Given the description of an element on the screen output the (x, y) to click on. 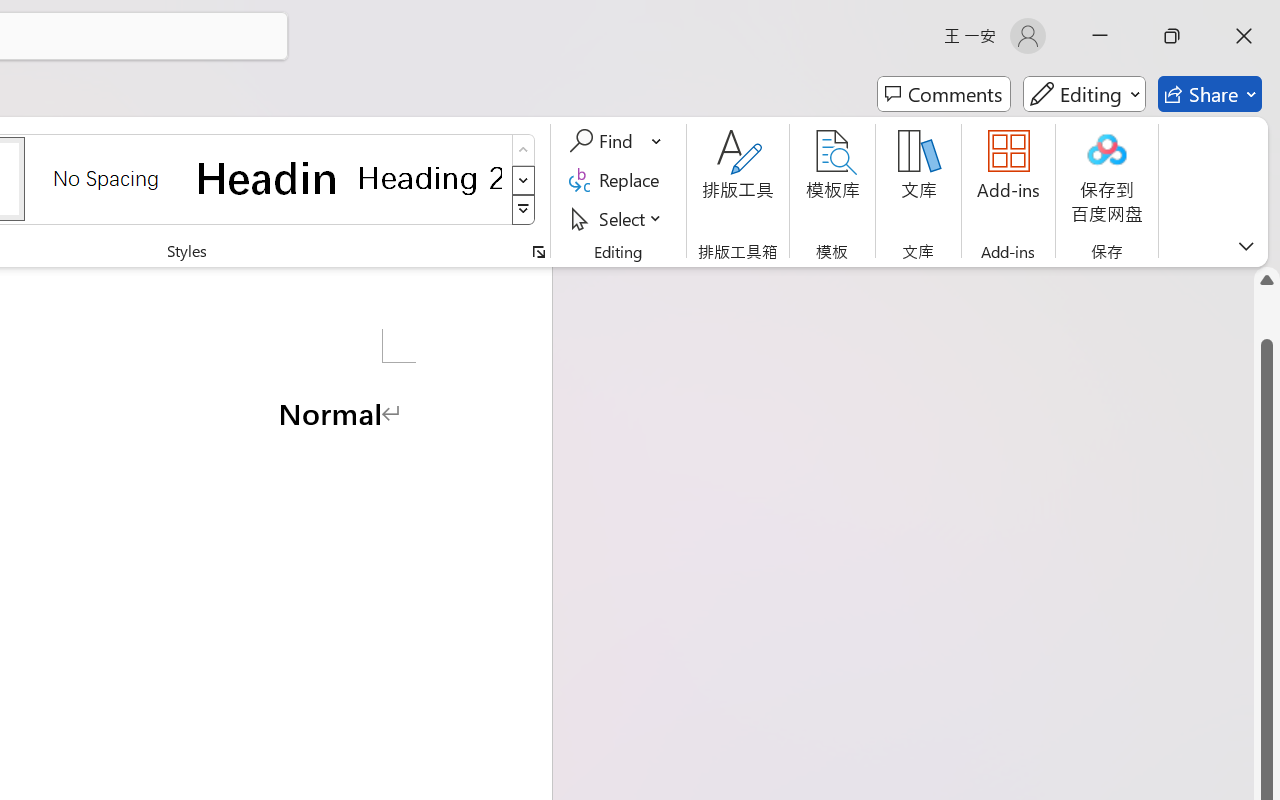
Heading 1 (267, 178)
Line up (1267, 279)
Page up (1267, 315)
Row Down (523, 180)
Heading 2 (429, 178)
